Given the description of an element on the screen output the (x, y) to click on. 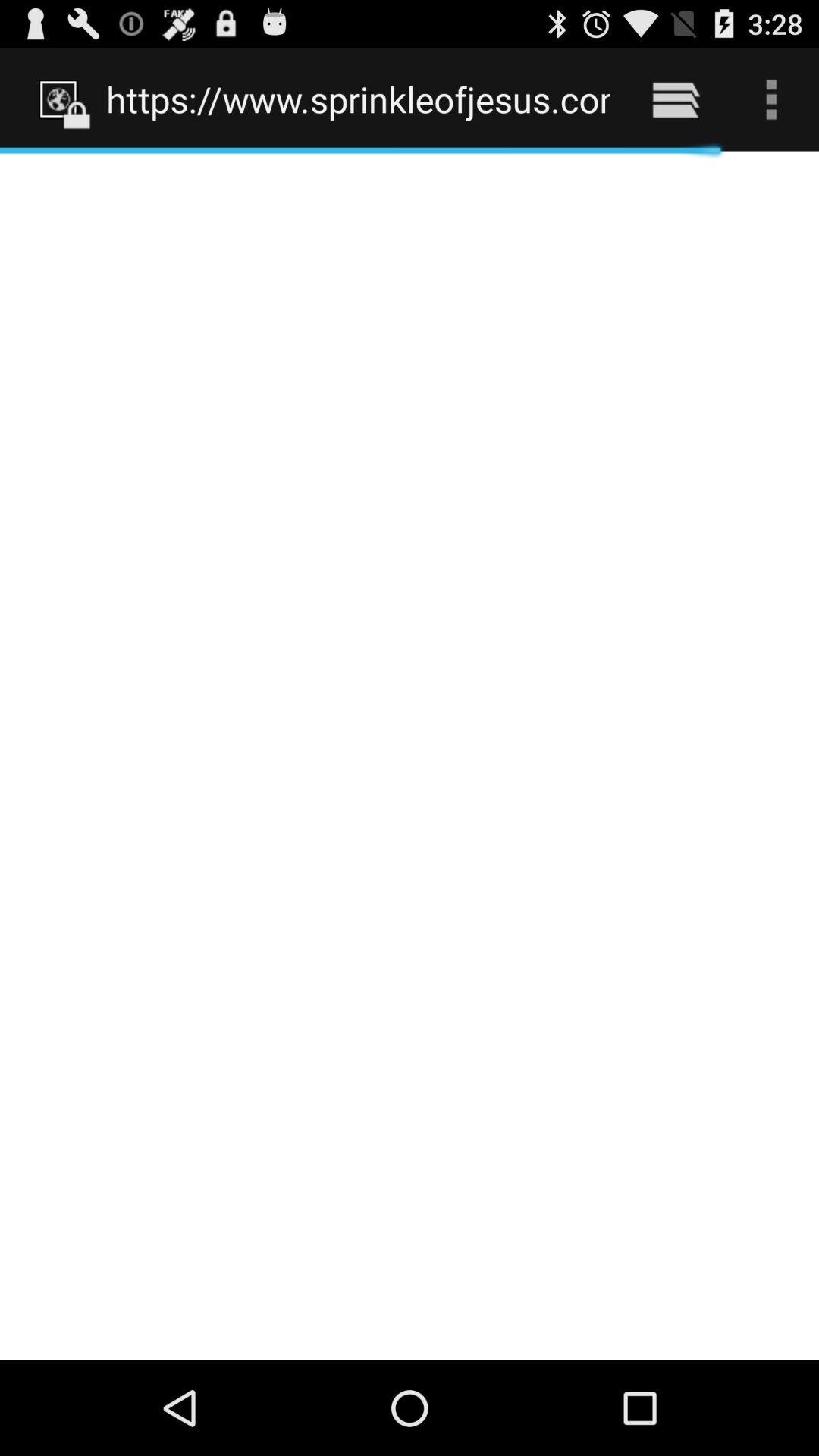
tap icon below https www sprinkleofjesus icon (409, 755)
